Given the description of an element on the screen output the (x, y) to click on. 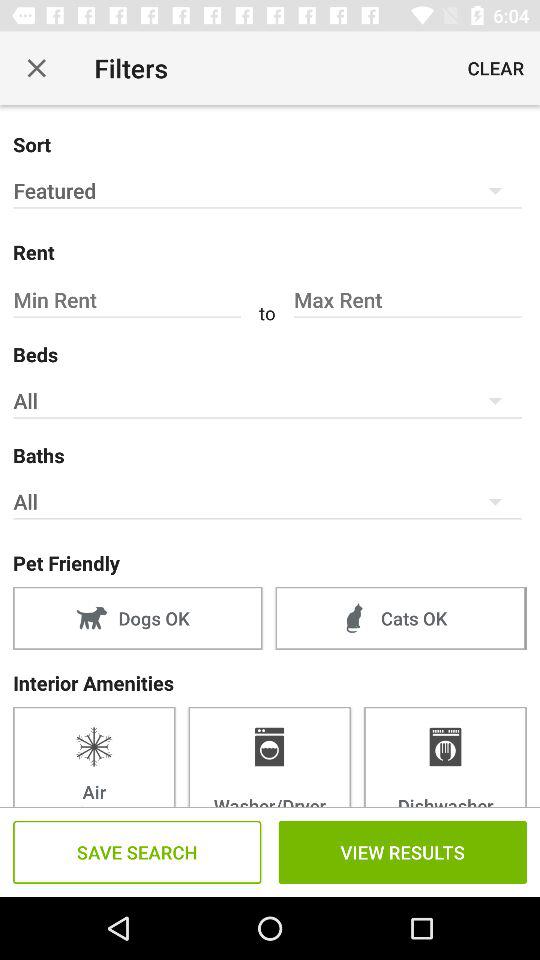
enter minimum rent (129, 300)
